Given the description of an element on the screen output the (x, y) to click on. 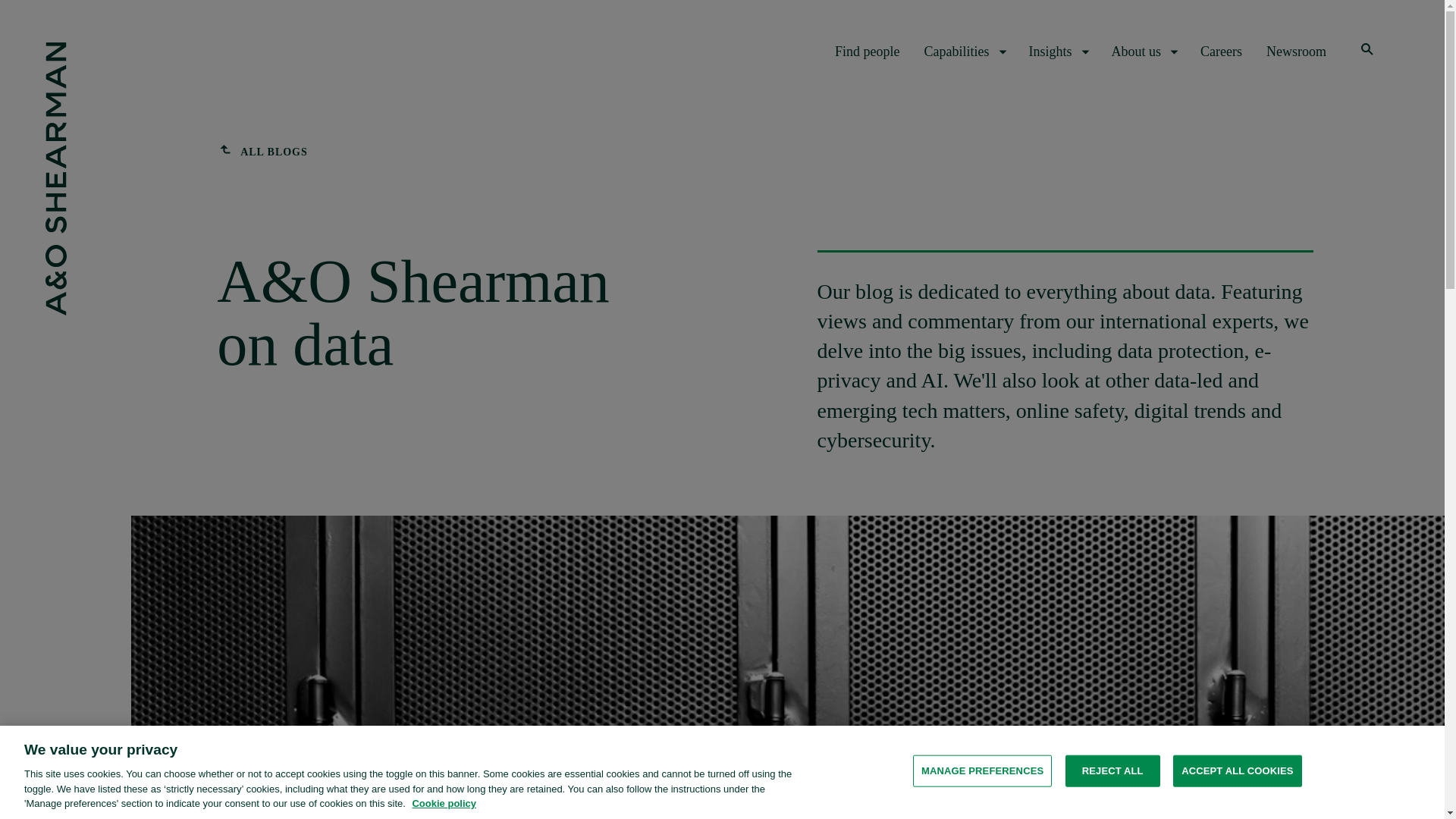
Insights (1056, 51)
Careers (1220, 51)
ALL BLOGS (261, 152)
About us (1144, 51)
Capabilities (964, 51)
Newsroom (1296, 51)
Find people (866, 51)
